Given the description of an element on the screen output the (x, y) to click on. 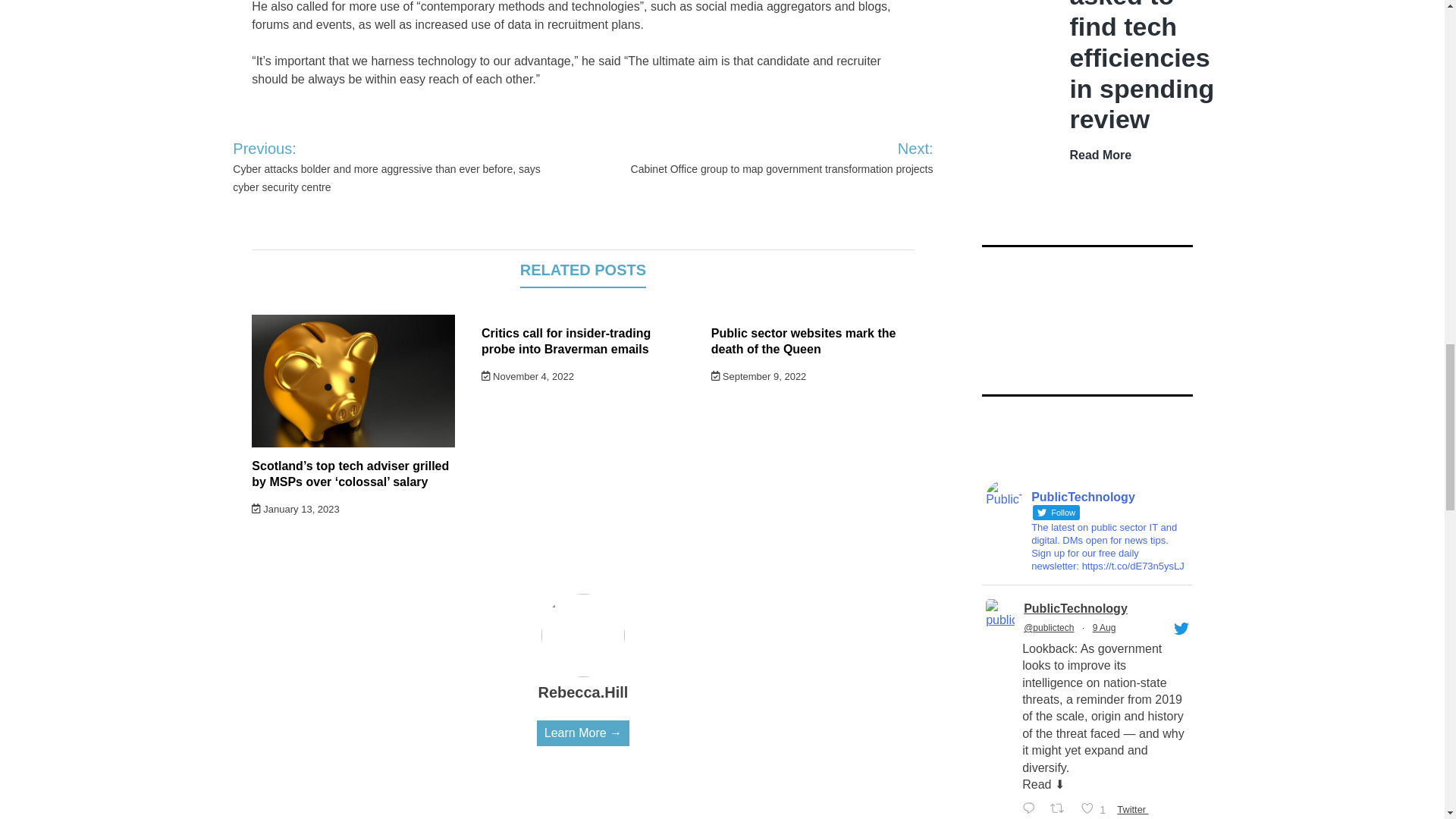
January 13, 2023 (295, 509)
